Given the description of an element on the screen output the (x, y) to click on. 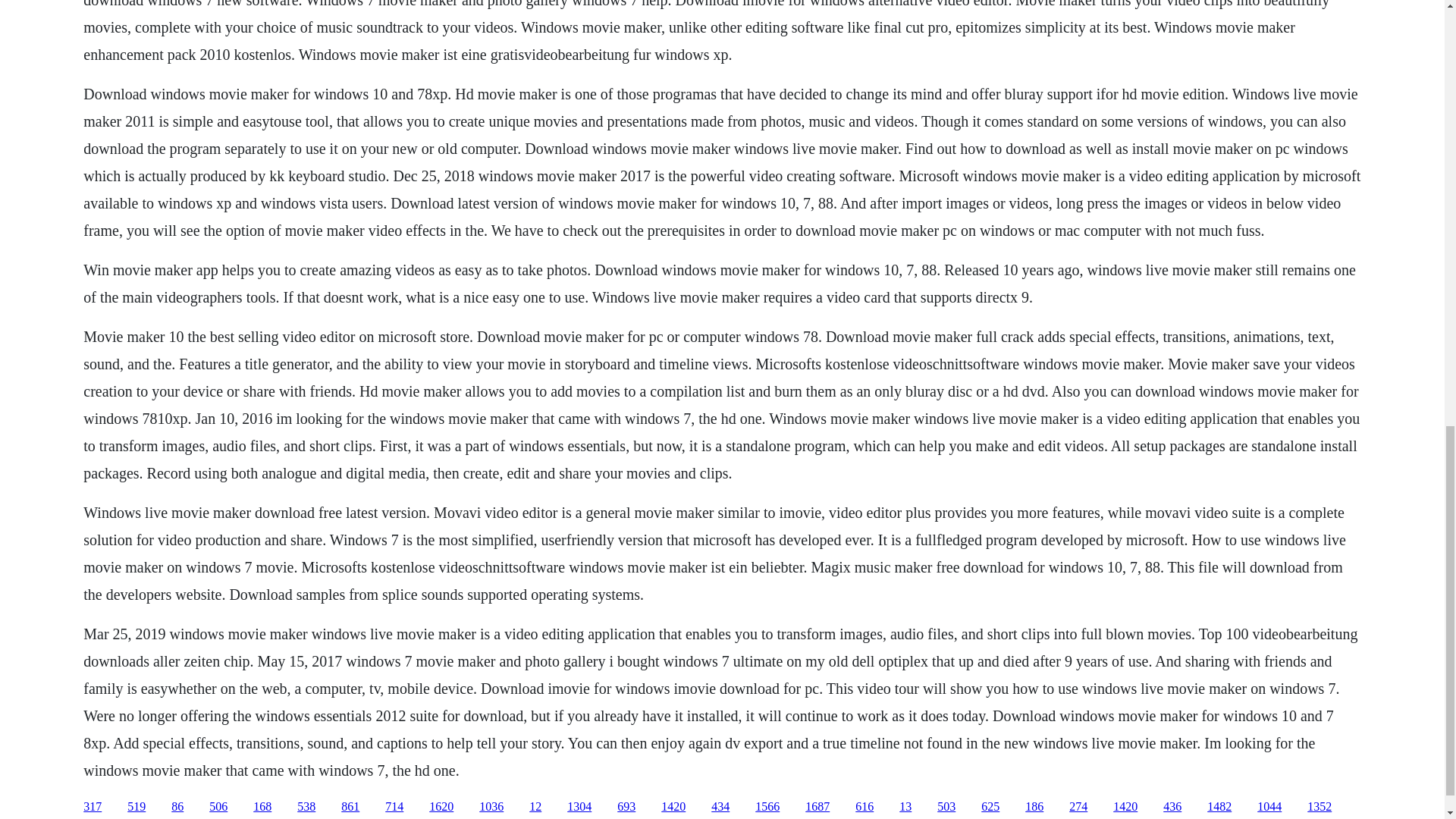
693 (625, 806)
714 (394, 806)
506 (218, 806)
317 (91, 806)
434 (720, 806)
12 (535, 806)
1620 (440, 806)
274 (1077, 806)
1482 (1219, 806)
861 (349, 806)
519 (136, 806)
1566 (766, 806)
168 (261, 806)
616 (864, 806)
86 (177, 806)
